Given the description of an element on the screen output the (x, y) to click on. 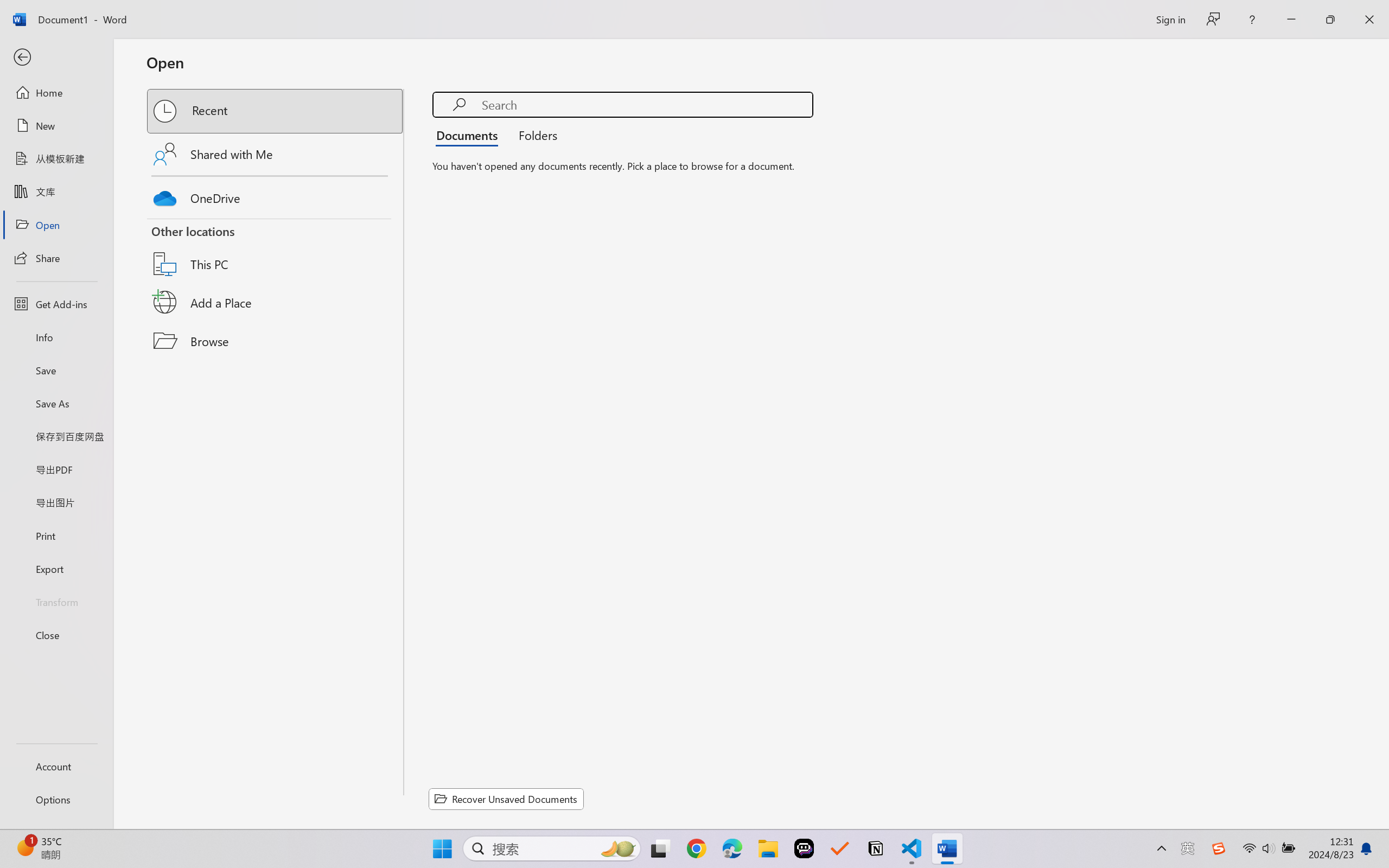
Info (56, 337)
Shared with Me (275, 153)
Save As (56, 403)
Account (56, 765)
Documents (469, 134)
